Given the description of an element on the screen output the (x, y) to click on. 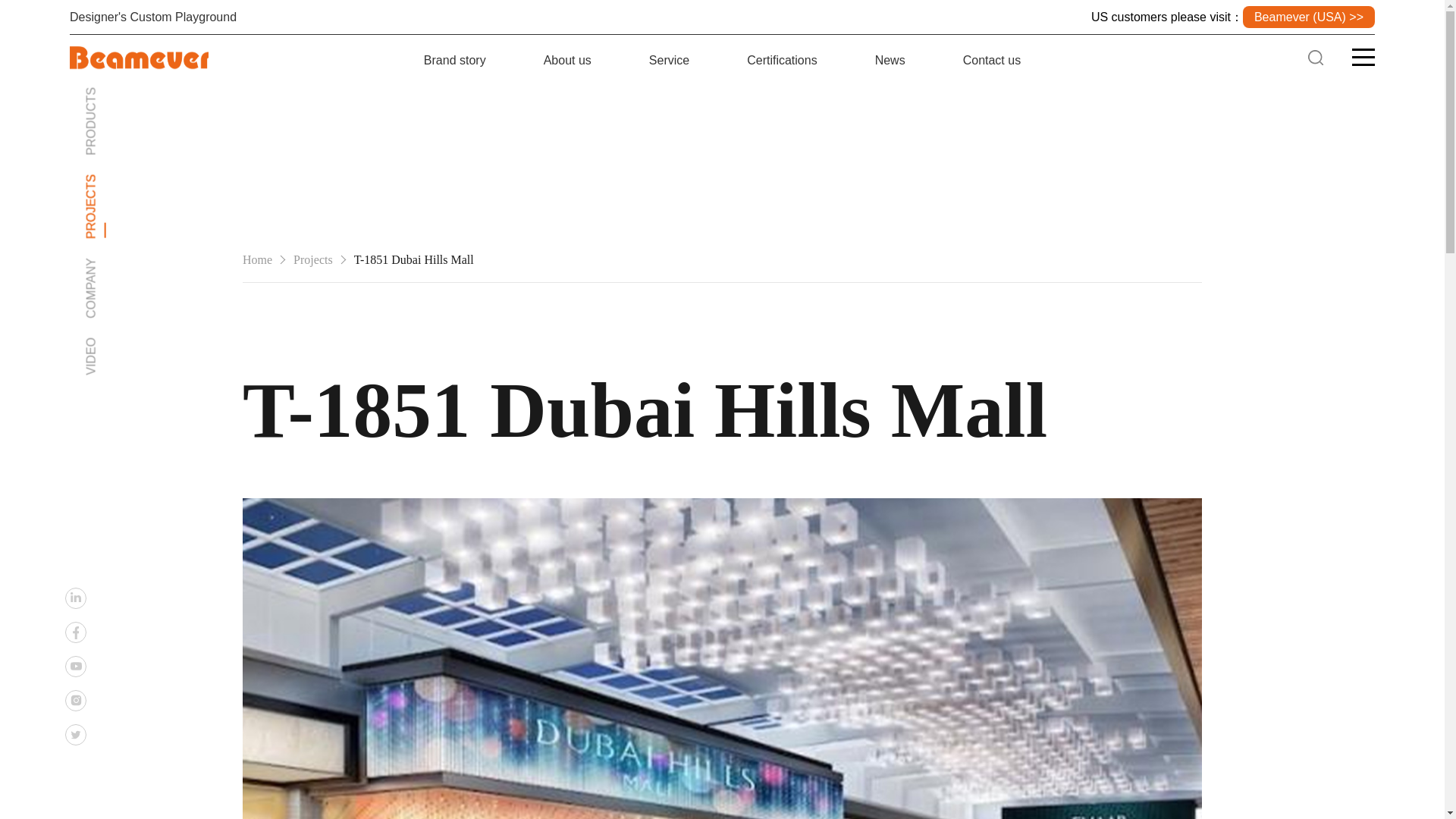
Brand story (454, 60)
VIDEO (104, 343)
PRODUCTS (118, 93)
Certifications (781, 60)
About us (567, 60)
Service (668, 60)
PROJECTS (117, 180)
COMPANY (114, 264)
Projects (313, 259)
News (890, 60)
Home (257, 259)
Contact us (991, 60)
